Given the description of an element on the screen output the (x, y) to click on. 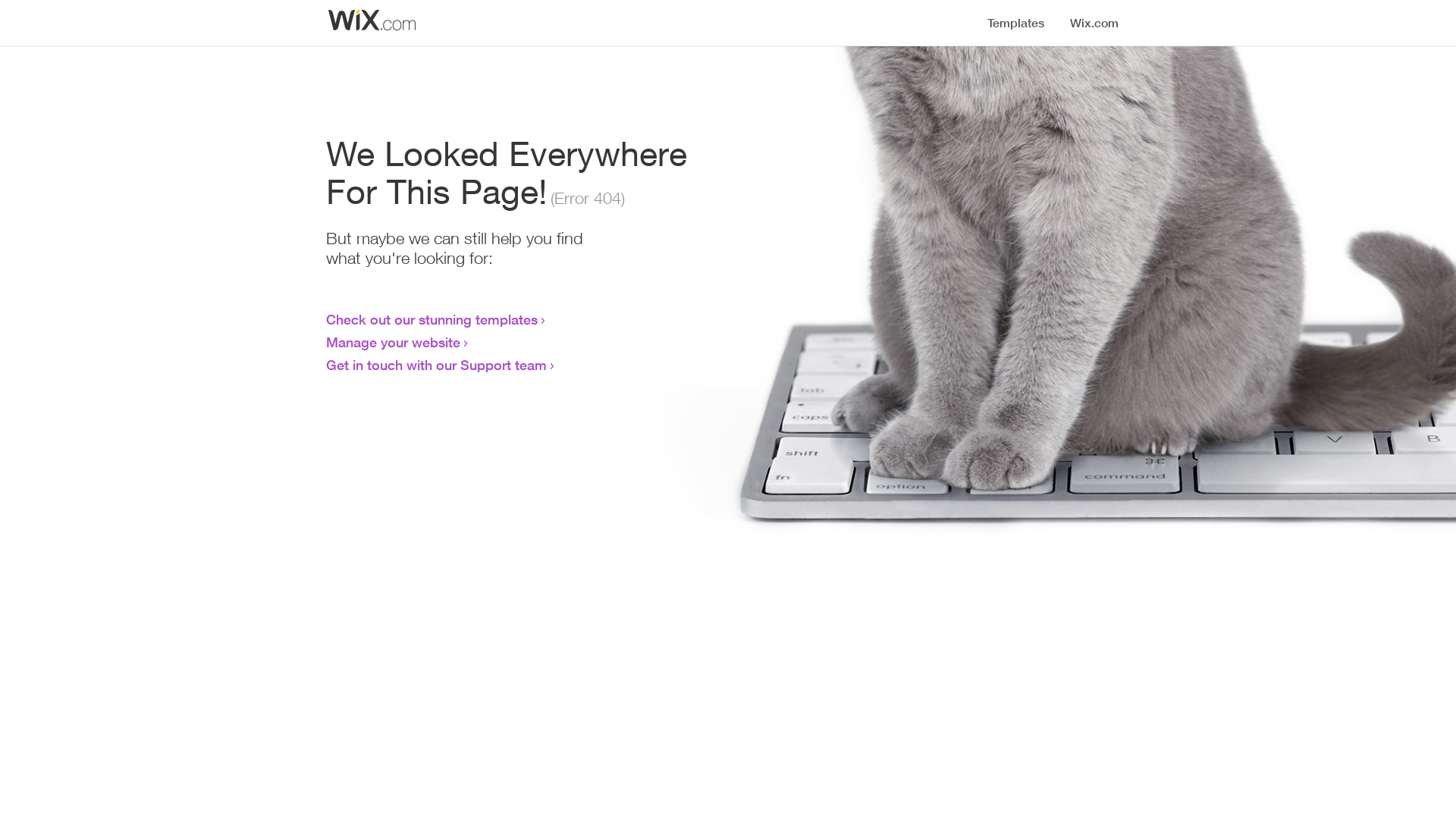
Get in touch with our Support team Element type: text (436, 364)
Check out our stunning templates Element type: text (431, 318)
Manage your website Element type: text (393, 341)
